Given the description of an element on the screen output the (x, y) to click on. 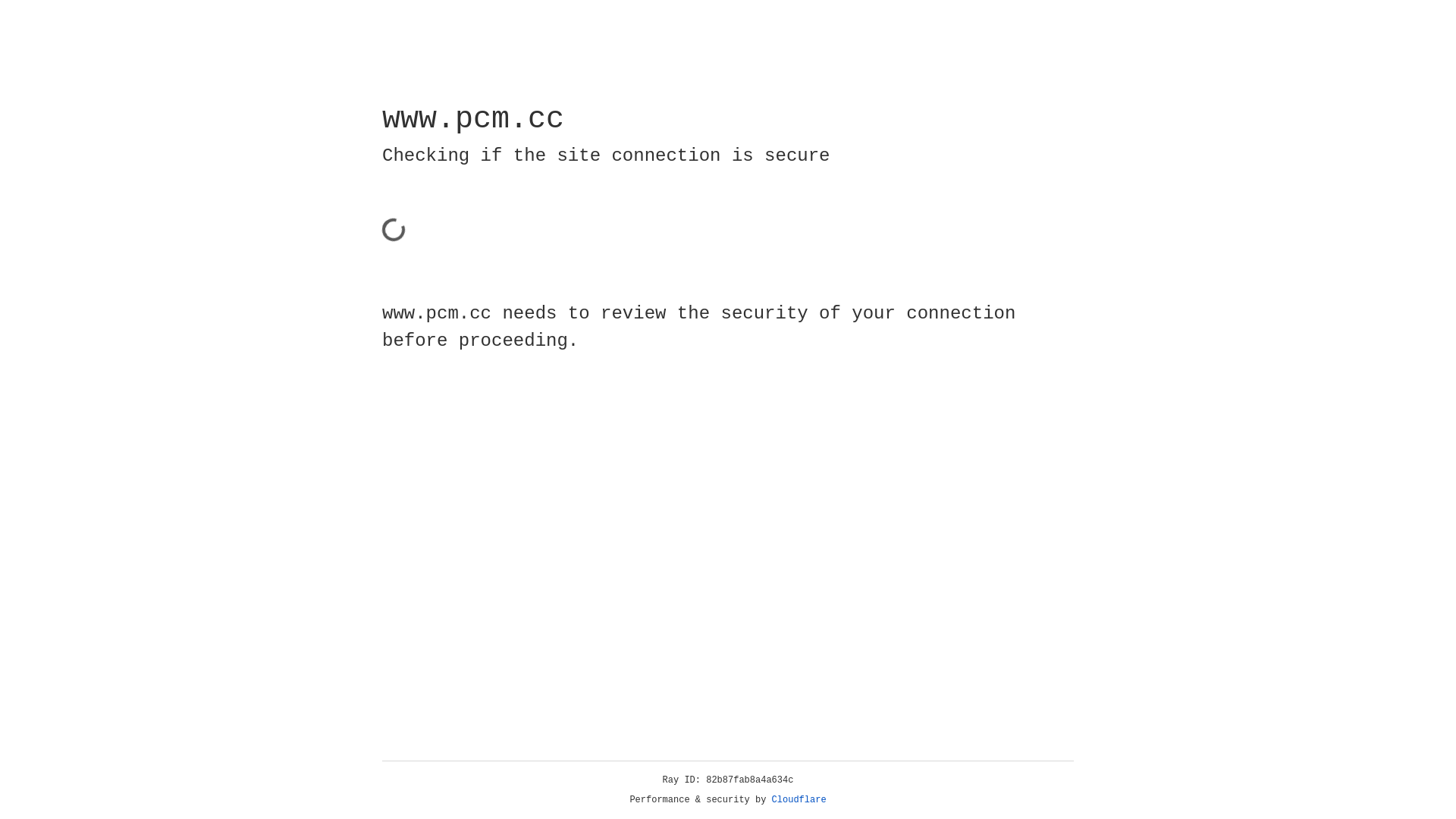
Cloudflare Element type: text (798, 799)
